Given the description of an element on the screen output the (x, y) to click on. 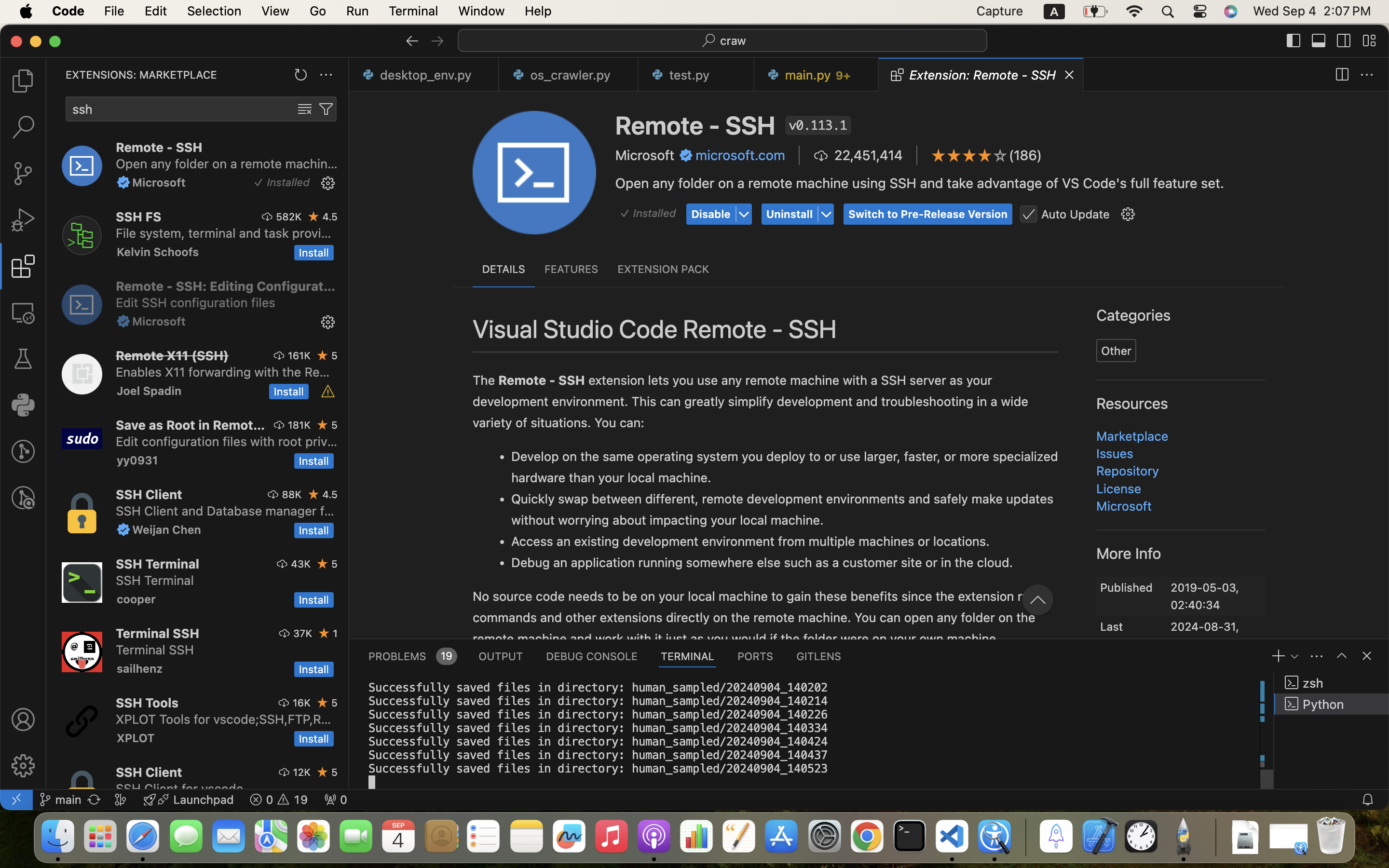
Enables X11 forwarding with the Remote - SSH extension. Element type: AXStaticText (222, 371)
0 main.py   Element type: AXRadioButton (812, 74)
Issues Element type: AXStaticText (1114, 453)
 Element type: AXStaticText (22, 765)
Launchpad   Element type: AXButton (188, 799)
